Given the description of an element on the screen output the (x, y) to click on. 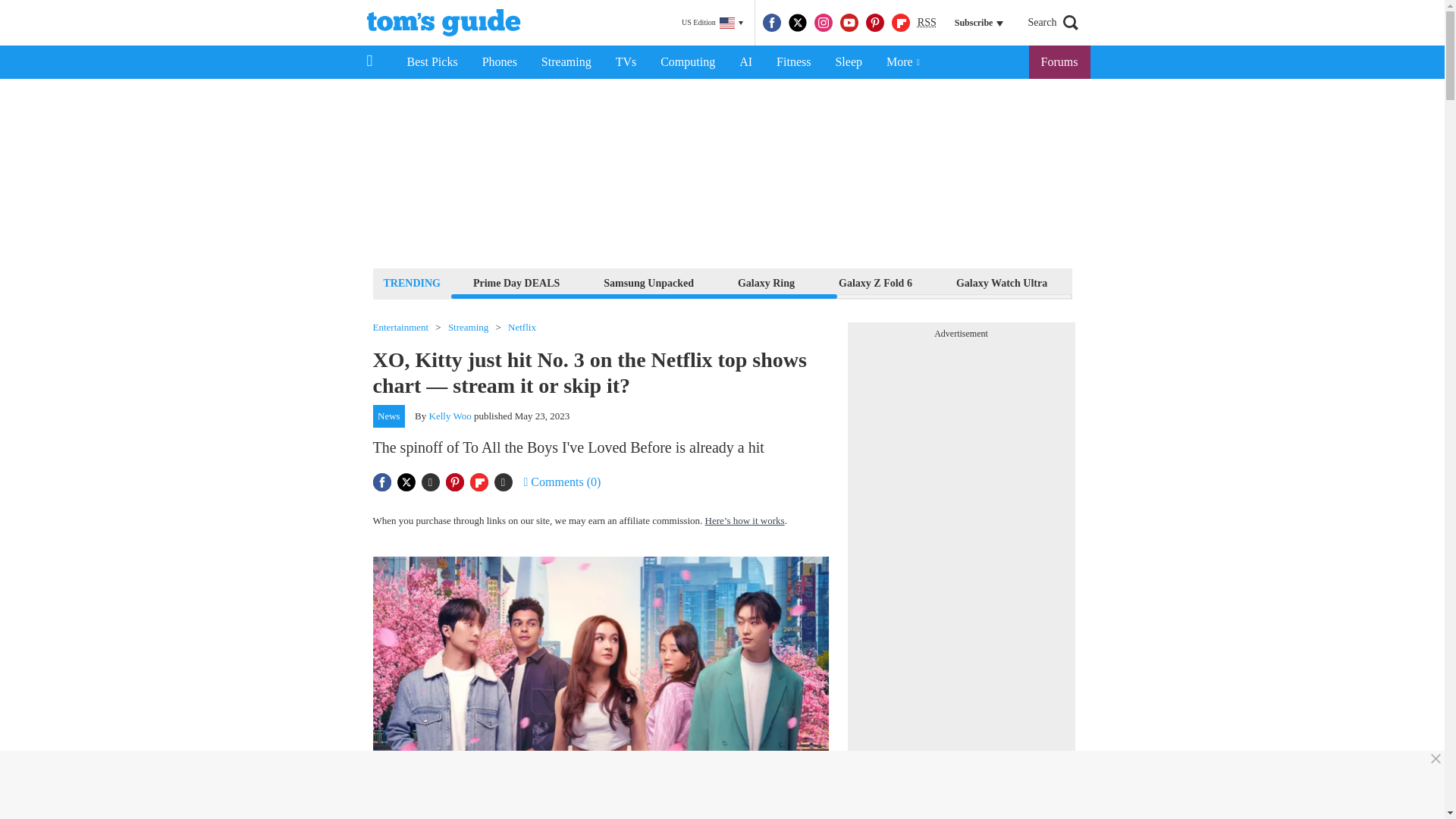
TVs (626, 61)
Fitness (793, 61)
RSS (926, 22)
Sleep (848, 61)
Best Picks (431, 61)
Streaming (566, 61)
US Edition (712, 22)
Really Simple Syndication (926, 21)
Computing (686, 61)
AI (745, 61)
Phones (499, 61)
